Given the description of an element on the screen output the (x, y) to click on. 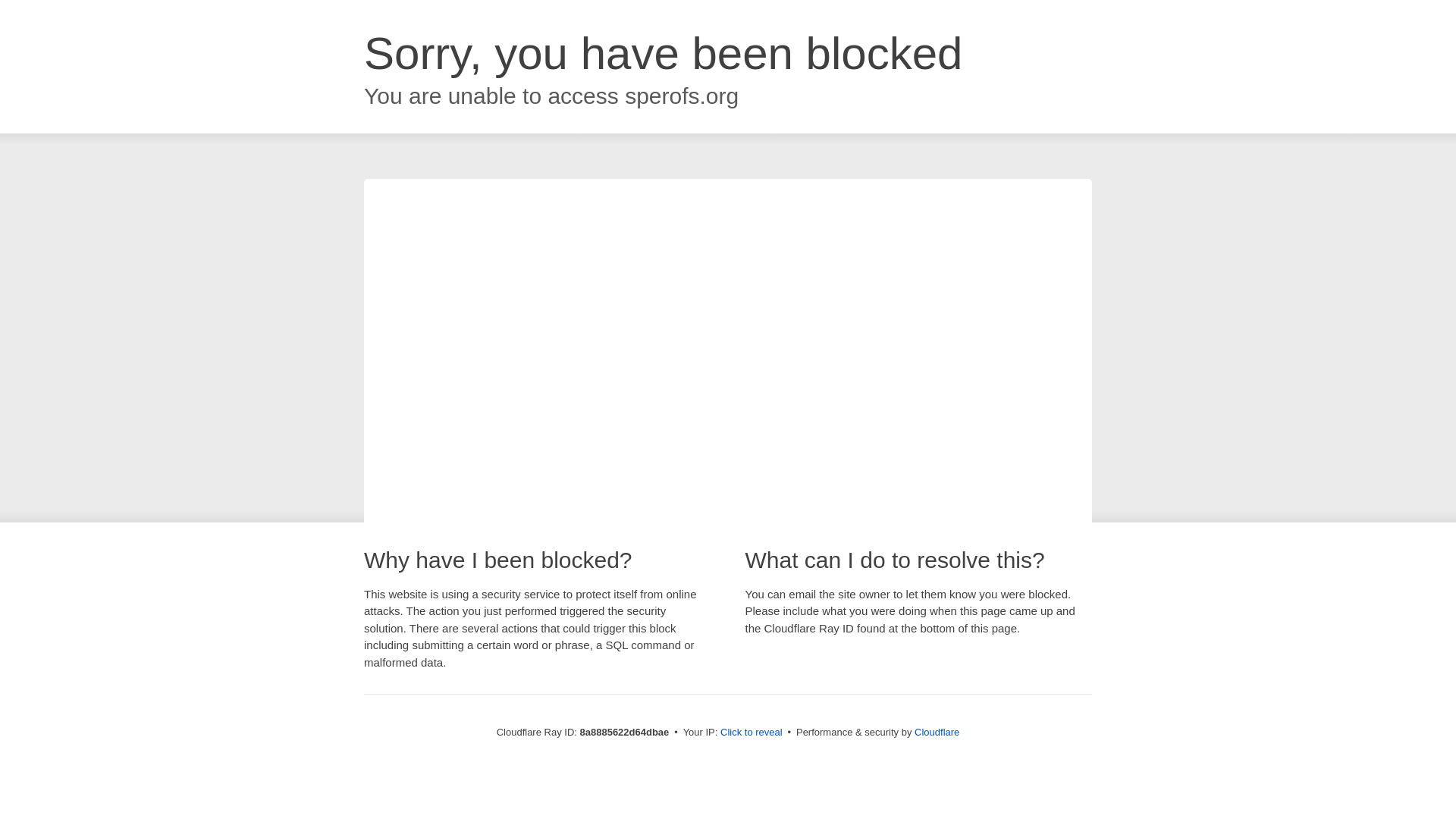
Cloudflare (936, 731)
Click to reveal (751, 732)
